Given the description of an element on the screen output the (x, y) to click on. 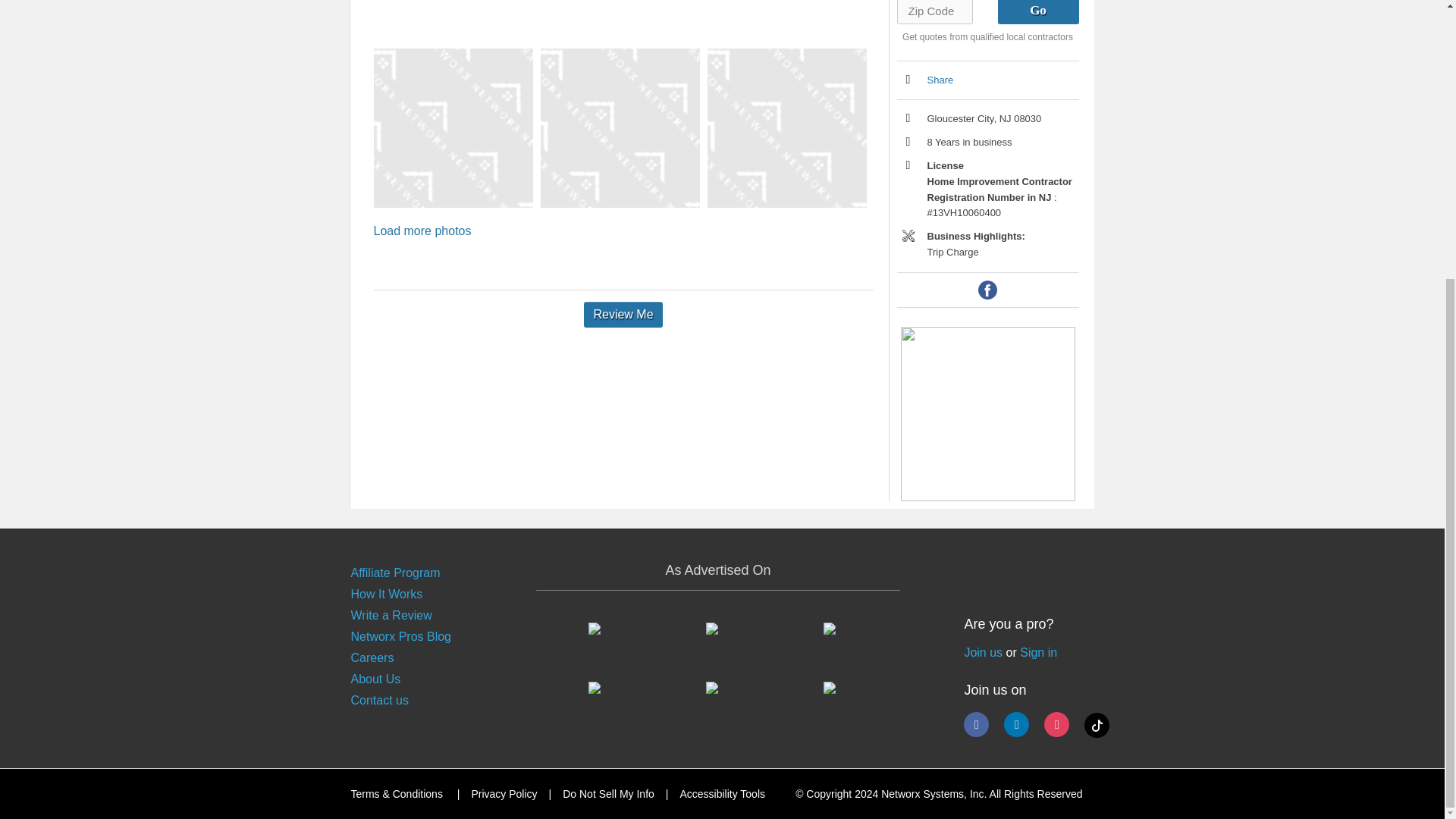
Go (1037, 12)
